Given the description of an element on the screen output the (x, y) to click on. 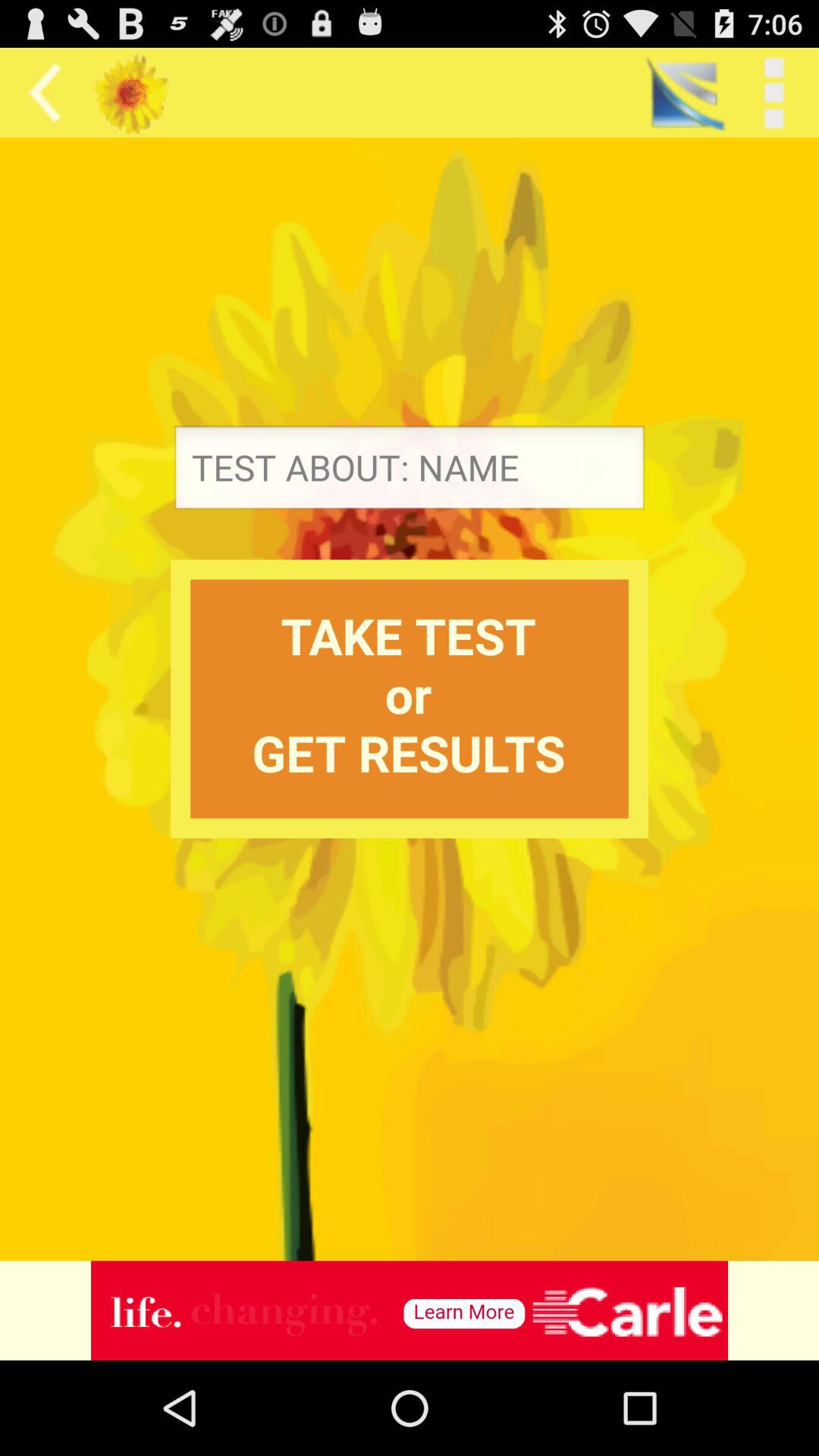
enter name (409, 471)
